Given the description of an element on the screen output the (x, y) to click on. 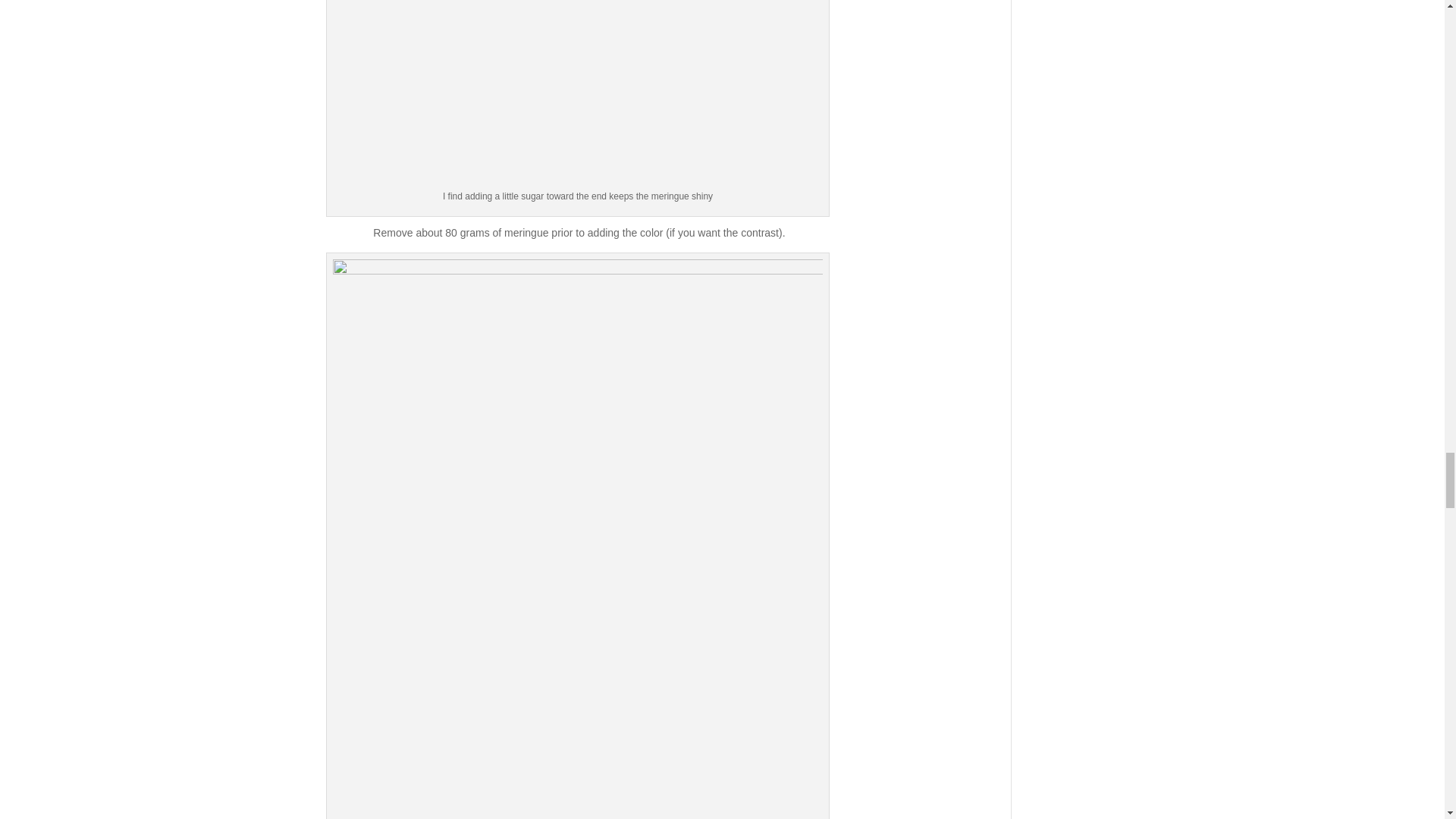
meringuesugar2196 (577, 94)
